Given the description of an element on the screen output the (x, y) to click on. 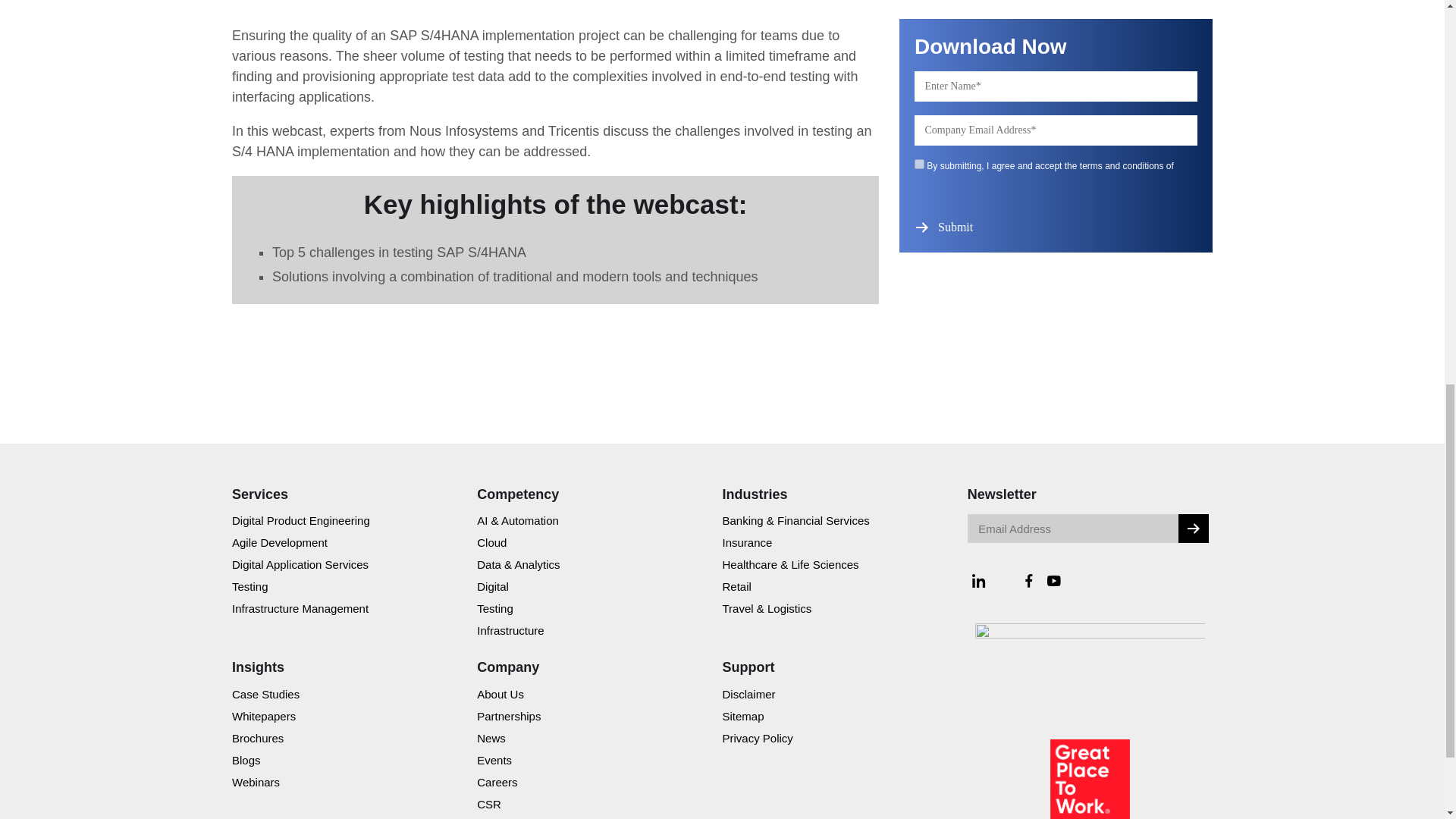
. (1192, 528)
Submit (957, 226)
